Given the description of an element on the screen output the (x, y) to click on. 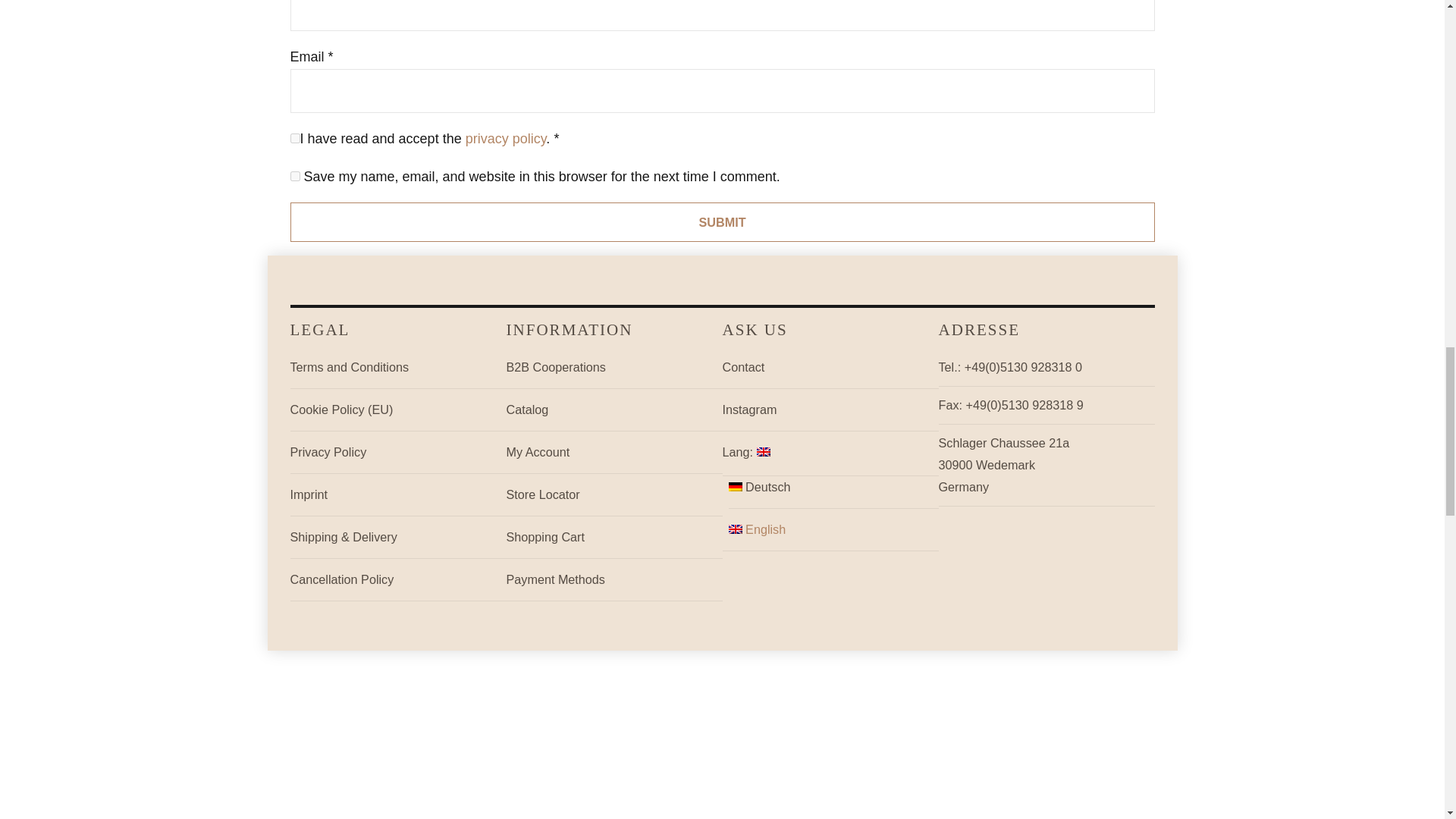
English (834, 529)
yes (294, 175)
1 (294, 138)
English (829, 452)
Submit (721, 221)
Deutsch (834, 486)
